Given the description of an element on the screen output the (x, y) to click on. 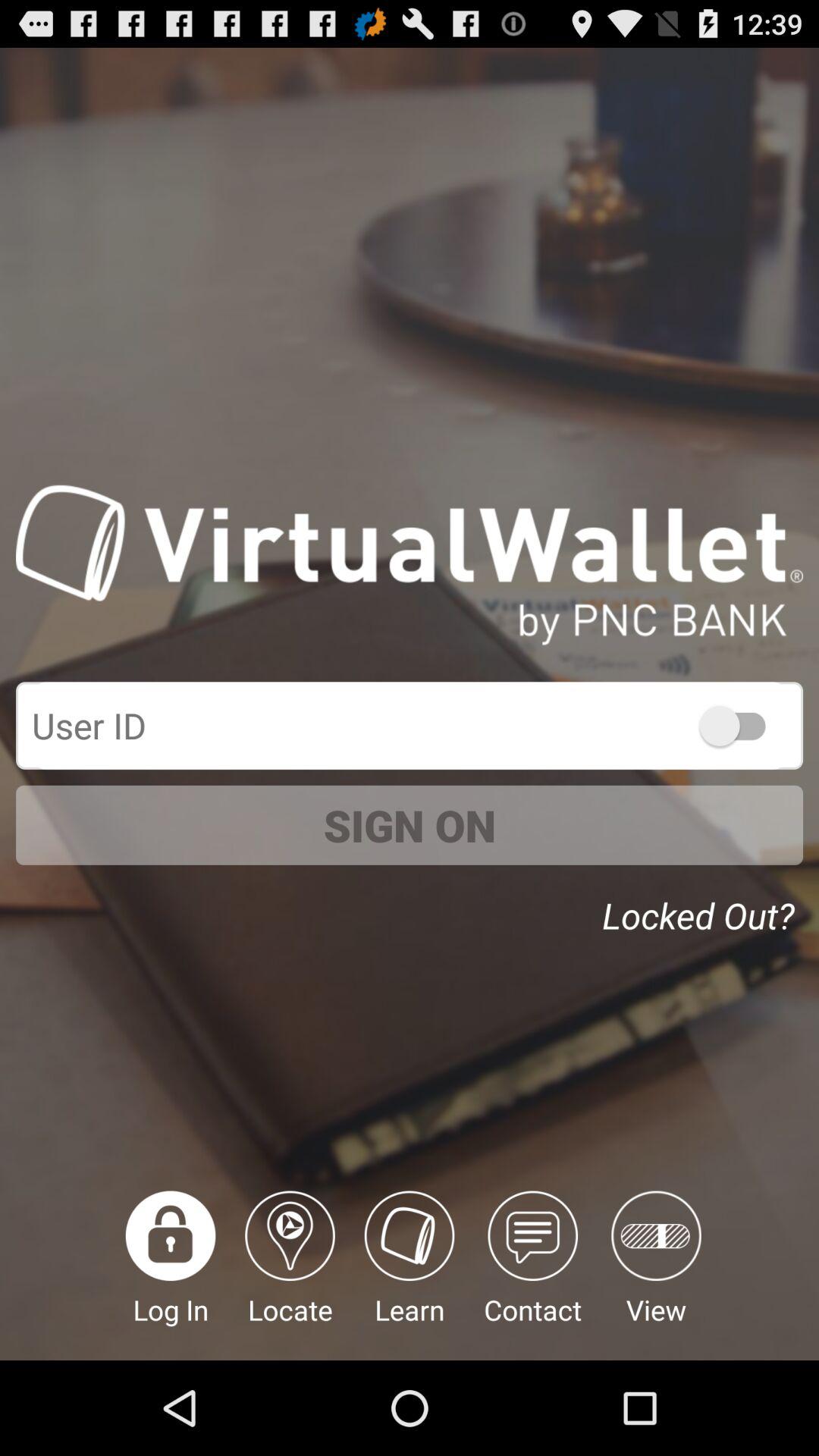
click the item next to the learn (532, 1275)
